Given the description of an element on the screen output the (x, y) to click on. 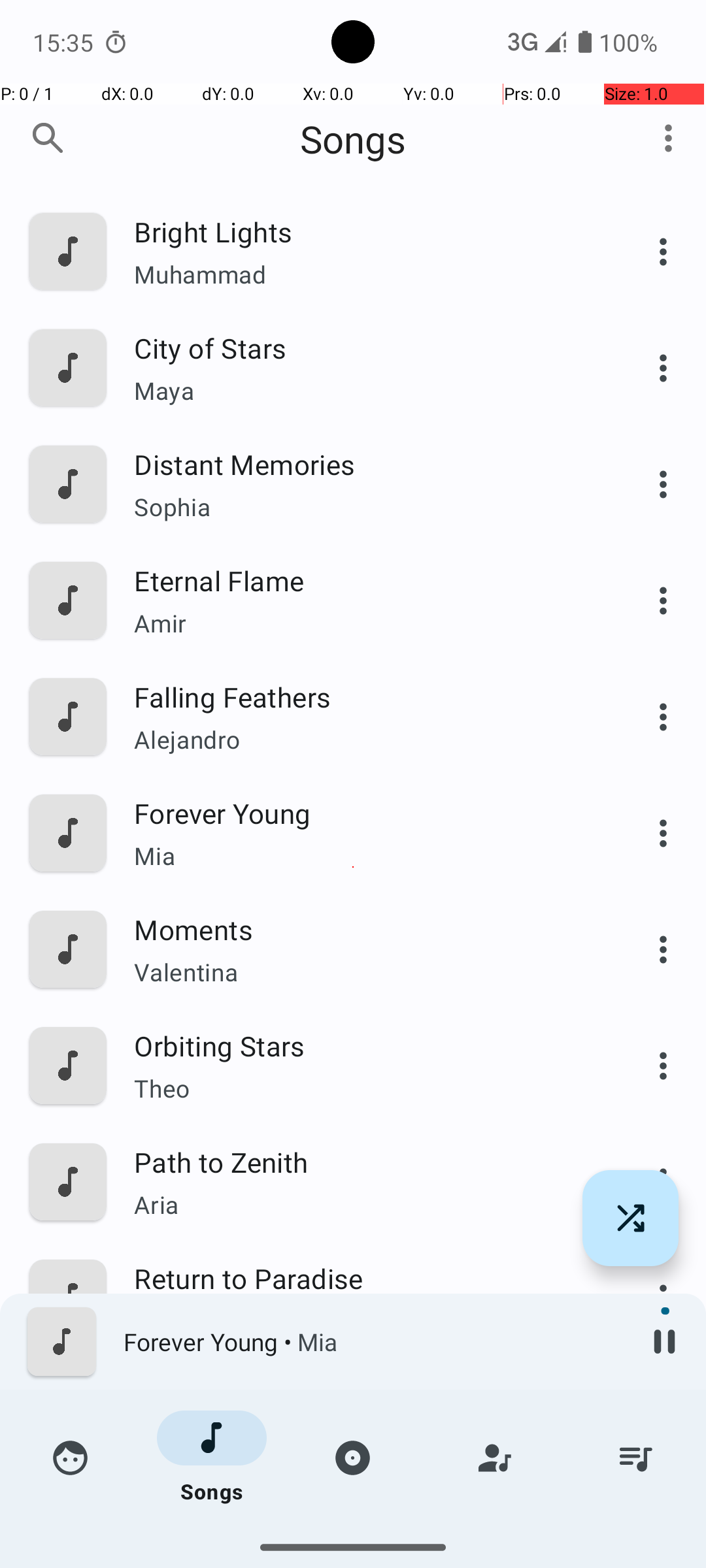
Forever Young • Mia Element type: android.widget.TextView (372, 1341)
Bright Lights Element type: android.widget.TextView (363, 231)
Muhammad Element type: android.widget.TextView (363, 273)
City of Stars Element type: android.widget.TextView (363, 347)
Maya Element type: android.widget.TextView (363, 390)
Distant Memories Element type: android.widget.TextView (363, 463)
Sophia Element type: android.widget.TextView (363, 506)
Eternal Flame Element type: android.widget.TextView (363, 580)
Amir Element type: android.widget.TextView (363, 622)
Falling Feathers Element type: android.widget.TextView (363, 696)
Alejandro Element type: android.widget.TextView (363, 738)
Forever Young Element type: android.widget.TextView (363, 812)
Mia Element type: android.widget.TextView (363, 855)
Moments Element type: android.widget.TextView (363, 928)
Valentina Element type: android.widget.TextView (363, 971)
Orbiting Stars Element type: android.widget.TextView (363, 1045)
Theo Element type: android.widget.TextView (363, 1087)
Path to Zenith Element type: android.widget.TextView (363, 1161)
Aria Element type: android.widget.TextView (363, 1204)
Return to Paradise Element type: android.widget.TextView (363, 1277)
Fatima Element type: android.widget.TextView (363, 1320)
Shadows of Time Element type: android.widget.TextView (363, 1394)
Thomas Element type: android.widget.TextView (363, 1436)
Twilight Calling Element type: android.widget.TextView (363, 1510)
Sarah Element type: android.widget.TextView (363, 1538)
